Given the description of an element on the screen output the (x, y) to click on. 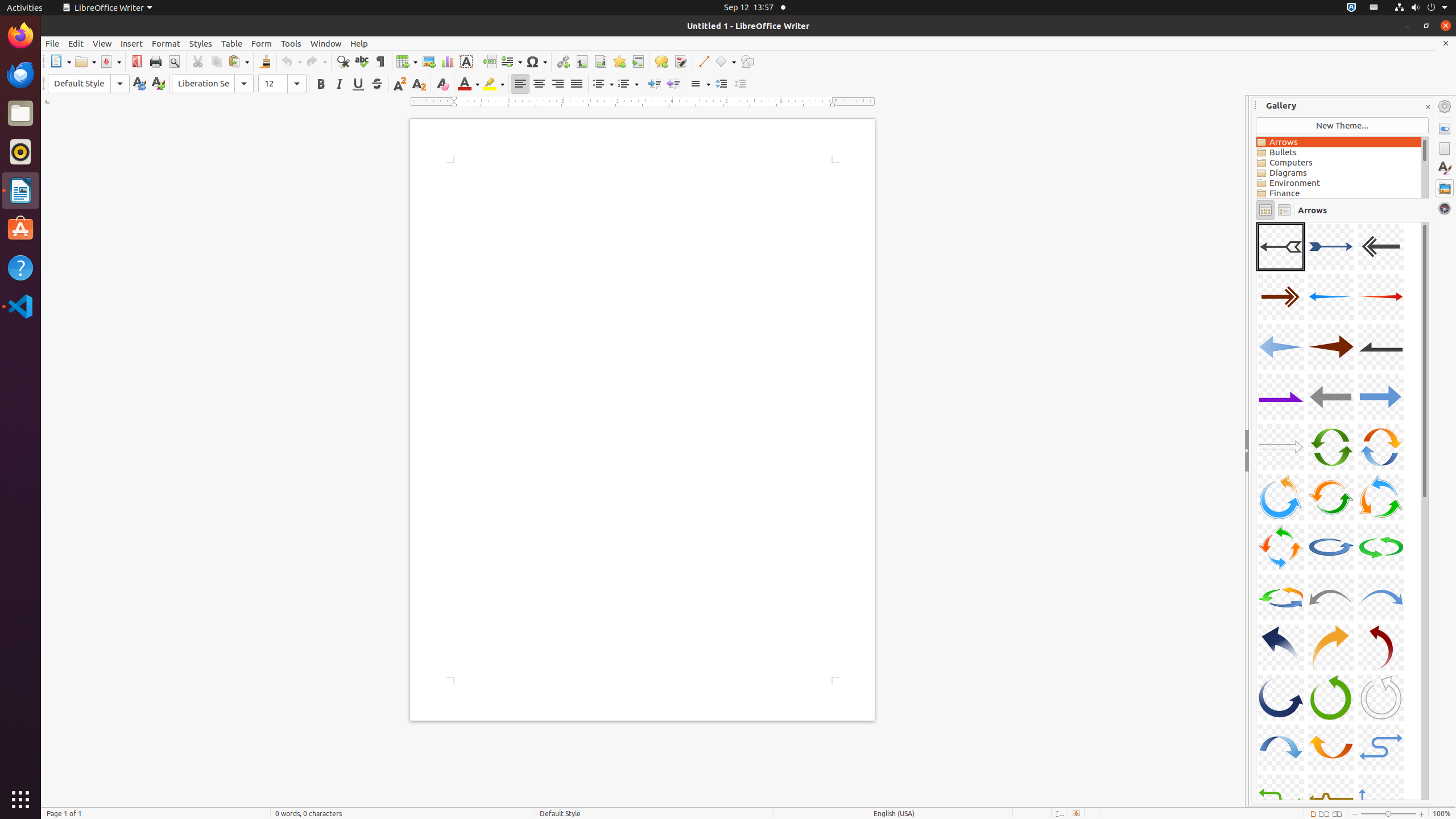
Hyperlink Element type: toggle-button (562, 61)
Underline Element type: push-button (357, 83)
Computers Element type: list-item (1338, 162)
A07-Arrow-LightBlue-Left Element type: list-item (1280, 346)
Page Element type: radio-button (1444, 148)
